Given the description of an element on the screen output the (x, y) to click on. 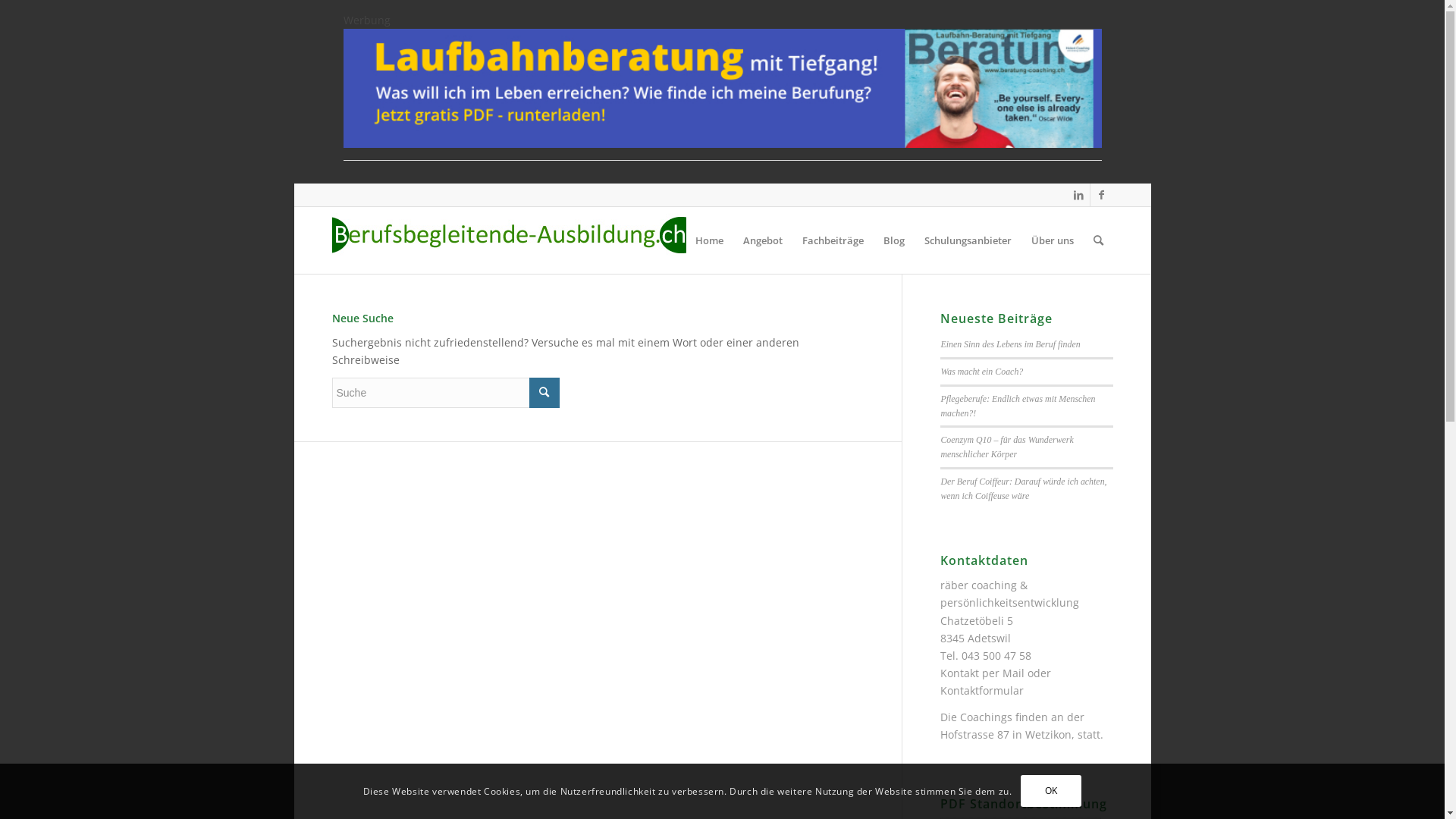
Angebot Element type: text (761, 240)
Pflegeberufe: Endlich etwas mit Menschen machen?! Element type: text (1017, 405)
Facebook Element type: hover (1101, 194)
Kontakt per Mail oder Kontaktformular Element type: text (995, 681)
Einen Sinn des Lebens im Beruf finden Element type: text (1009, 343)
Was macht ein Coach? Element type: text (981, 371)
Blog Element type: text (893, 240)
Home Element type: text (709, 240)
LinkedIn Element type: hover (1078, 194)
OK Element type: text (1050, 790)
Schulungsanbieter Element type: text (967, 240)
